Given the description of an element on the screen output the (x, y) to click on. 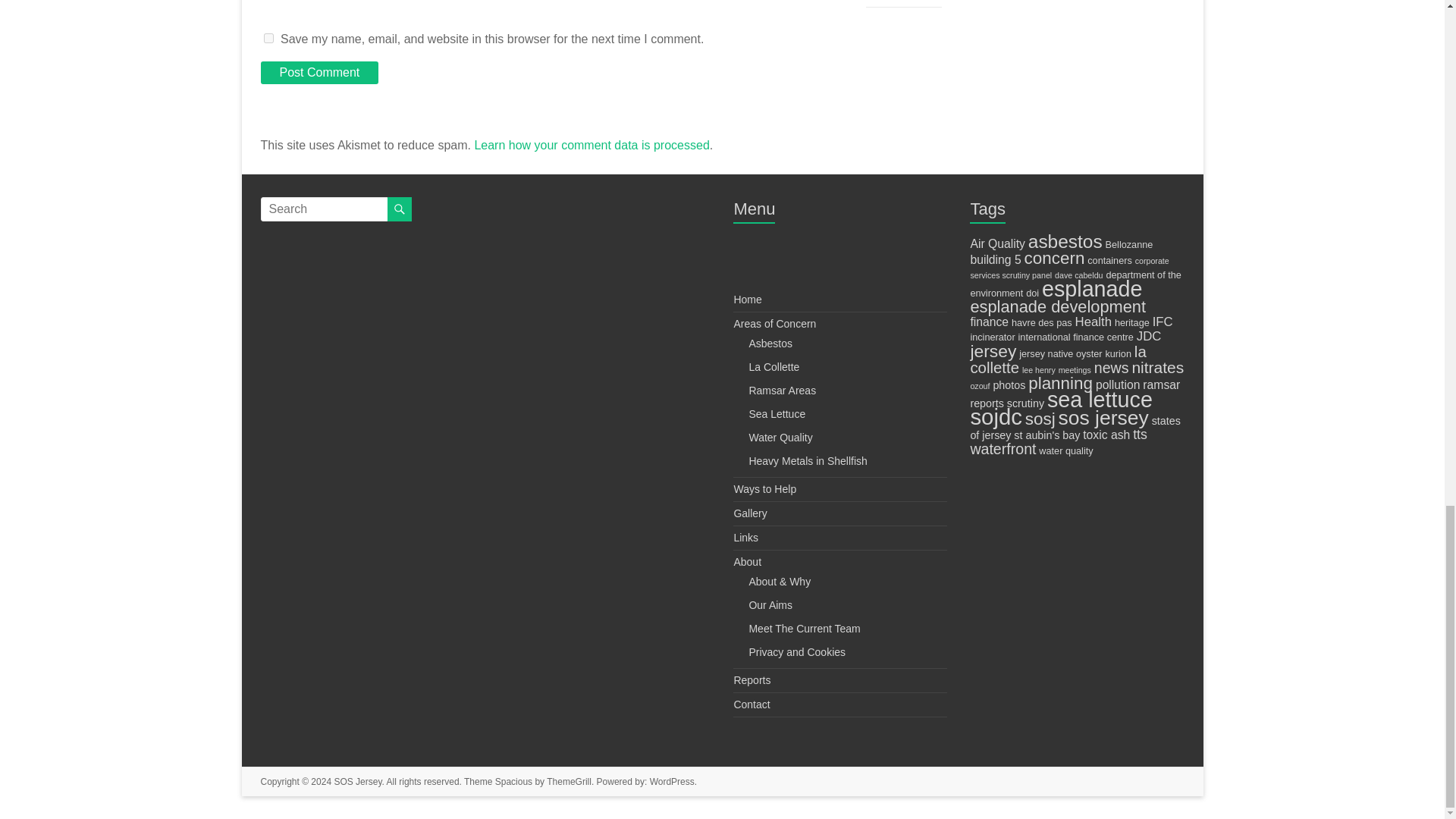
WordPress (671, 781)
yes (268, 38)
Spacious (513, 781)
SOS Jersey (357, 781)
Post Comment (319, 72)
